Given the description of an element on the screen output the (x, y) to click on. 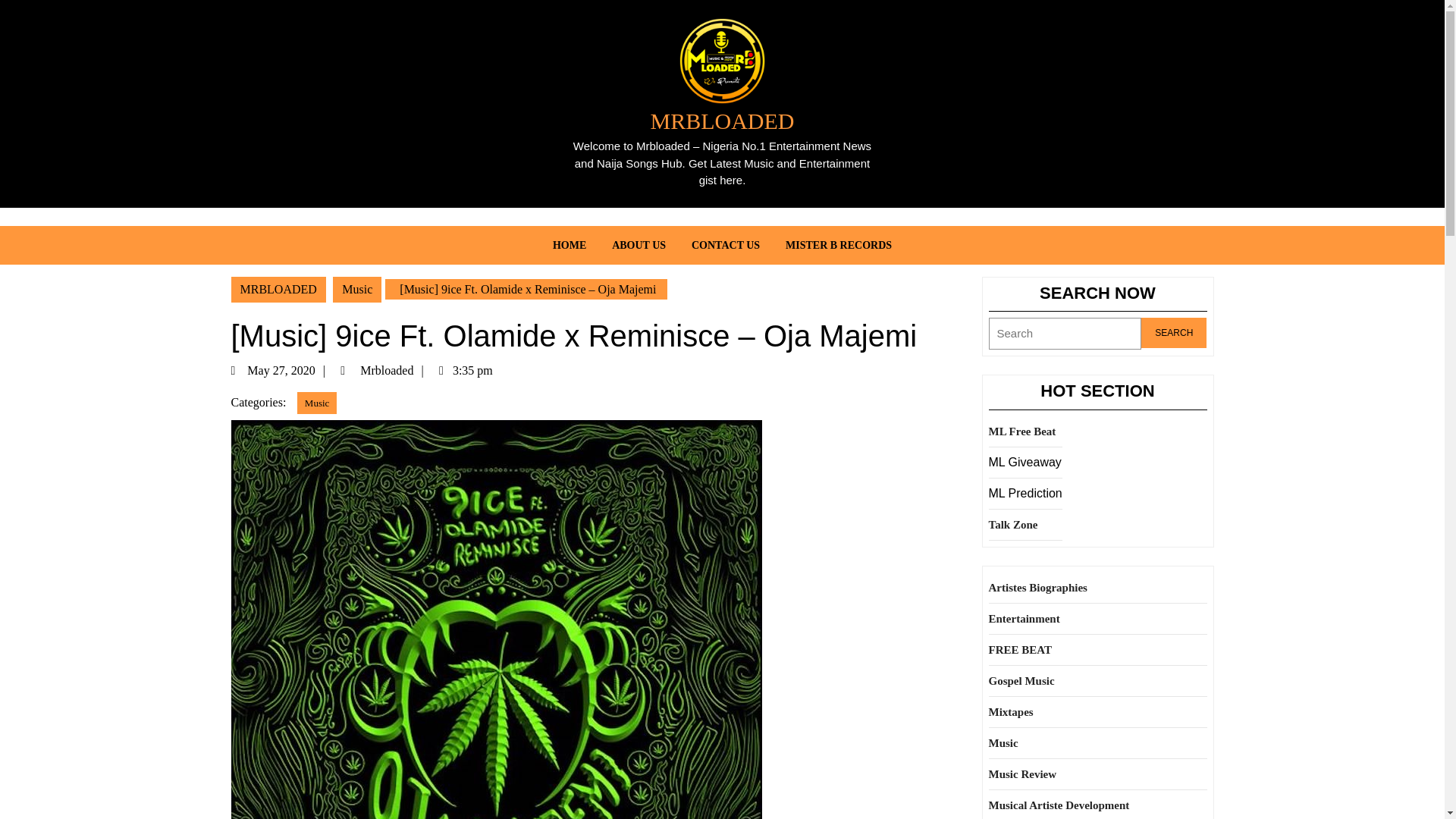
Music (317, 402)
Mrbloaded (392, 369)
Music (357, 289)
ABOUT US (638, 245)
MRBLOADED (277, 289)
MRBLOADED (721, 120)
Search (1174, 332)
MISTER B RECORDS (838, 245)
Search (1174, 332)
May 27, 2020 (289, 369)
